Given the description of an element on the screen output the (x, y) to click on. 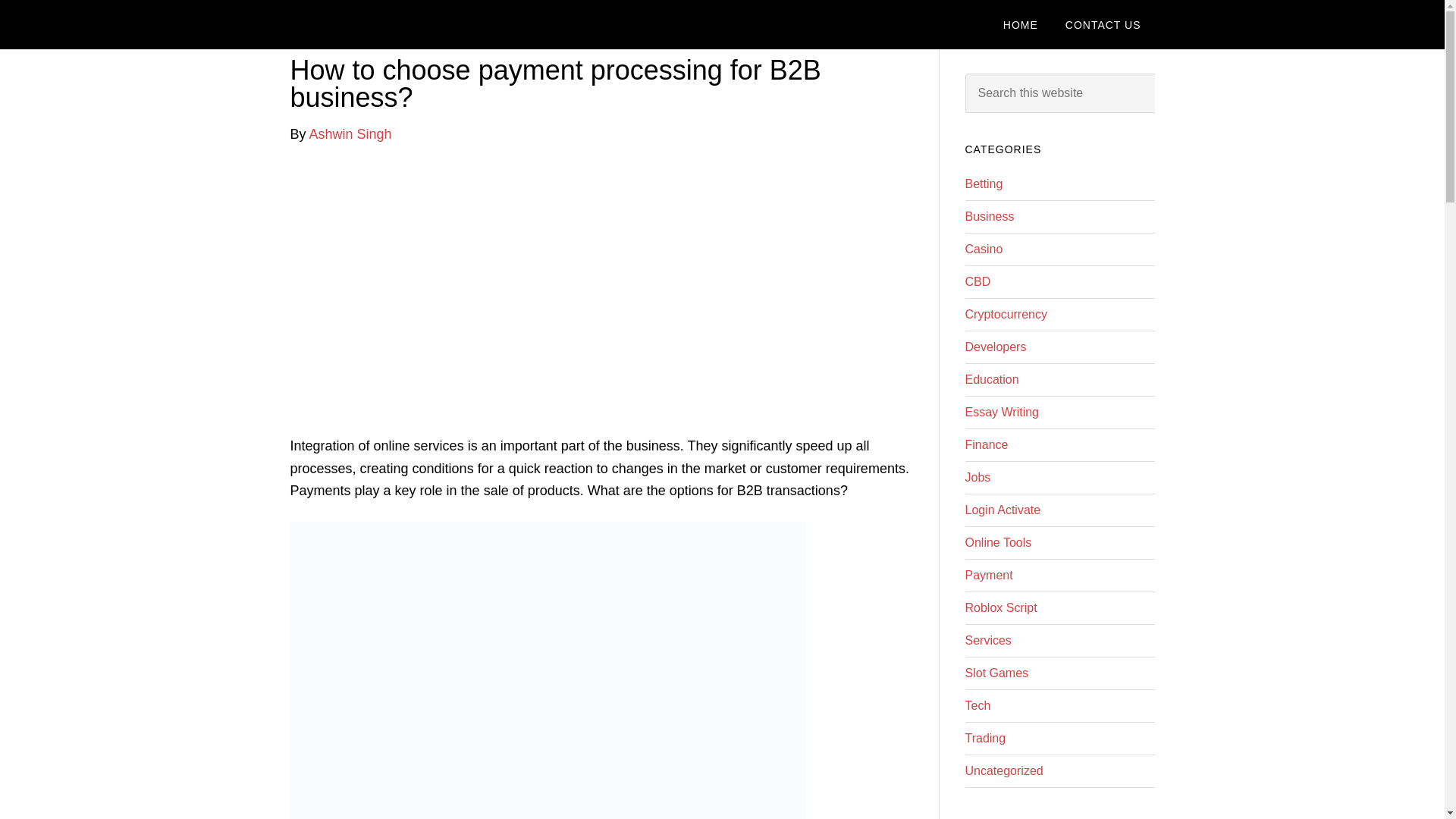
CONTACT US (1102, 24)
Finance (985, 444)
Online Tools (996, 542)
Education (990, 379)
Login Activate (1002, 509)
Slot Games (995, 672)
Ashwin Singh (349, 133)
Cryptocurrency (1004, 314)
Business (988, 215)
